Given the description of an element on the screen output the (x, y) to click on. 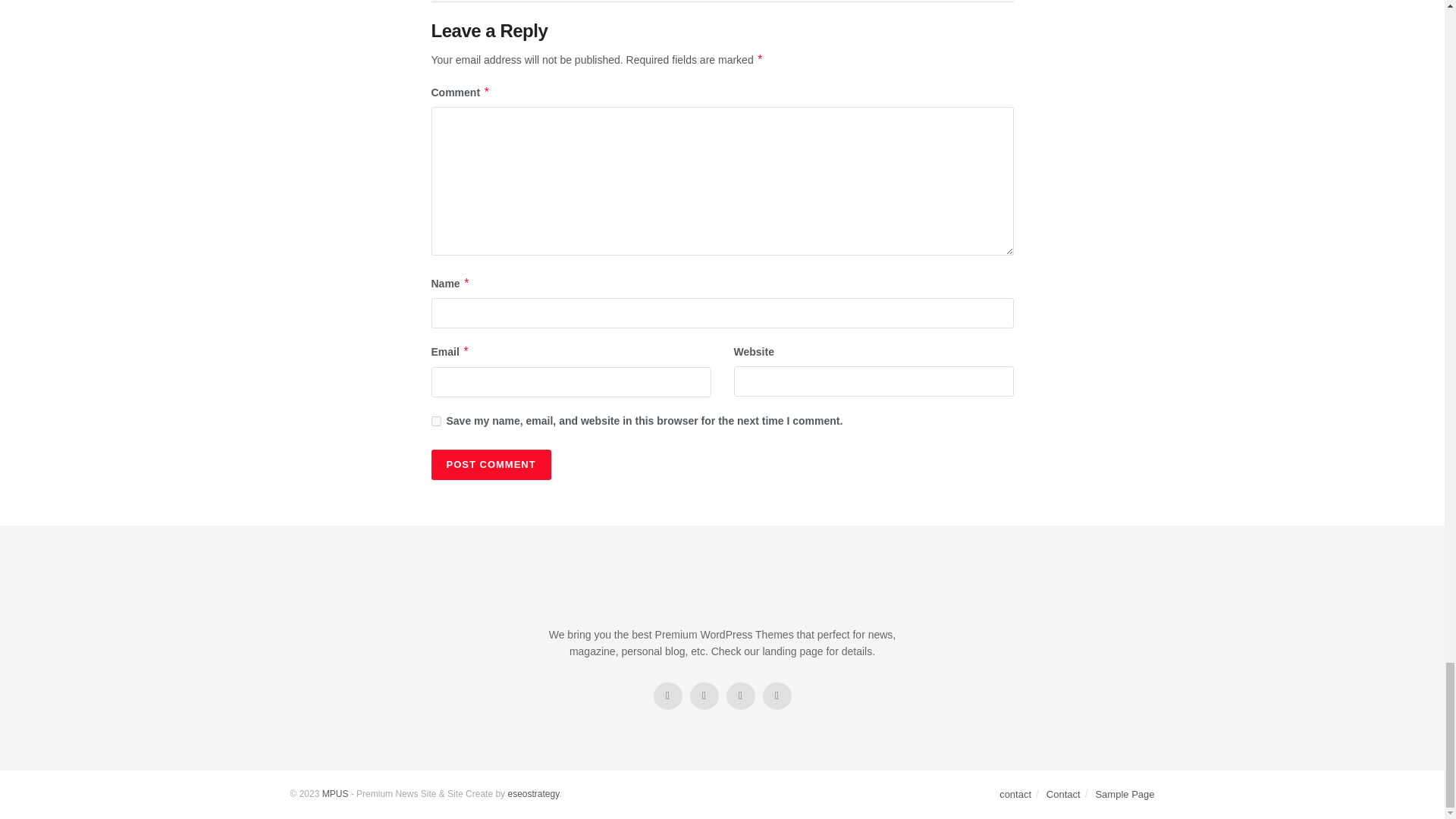
Post Comment (490, 464)
MPUS (335, 793)
eseostrategy (532, 793)
yes (435, 420)
